Given the description of an element on the screen output the (x, y) to click on. 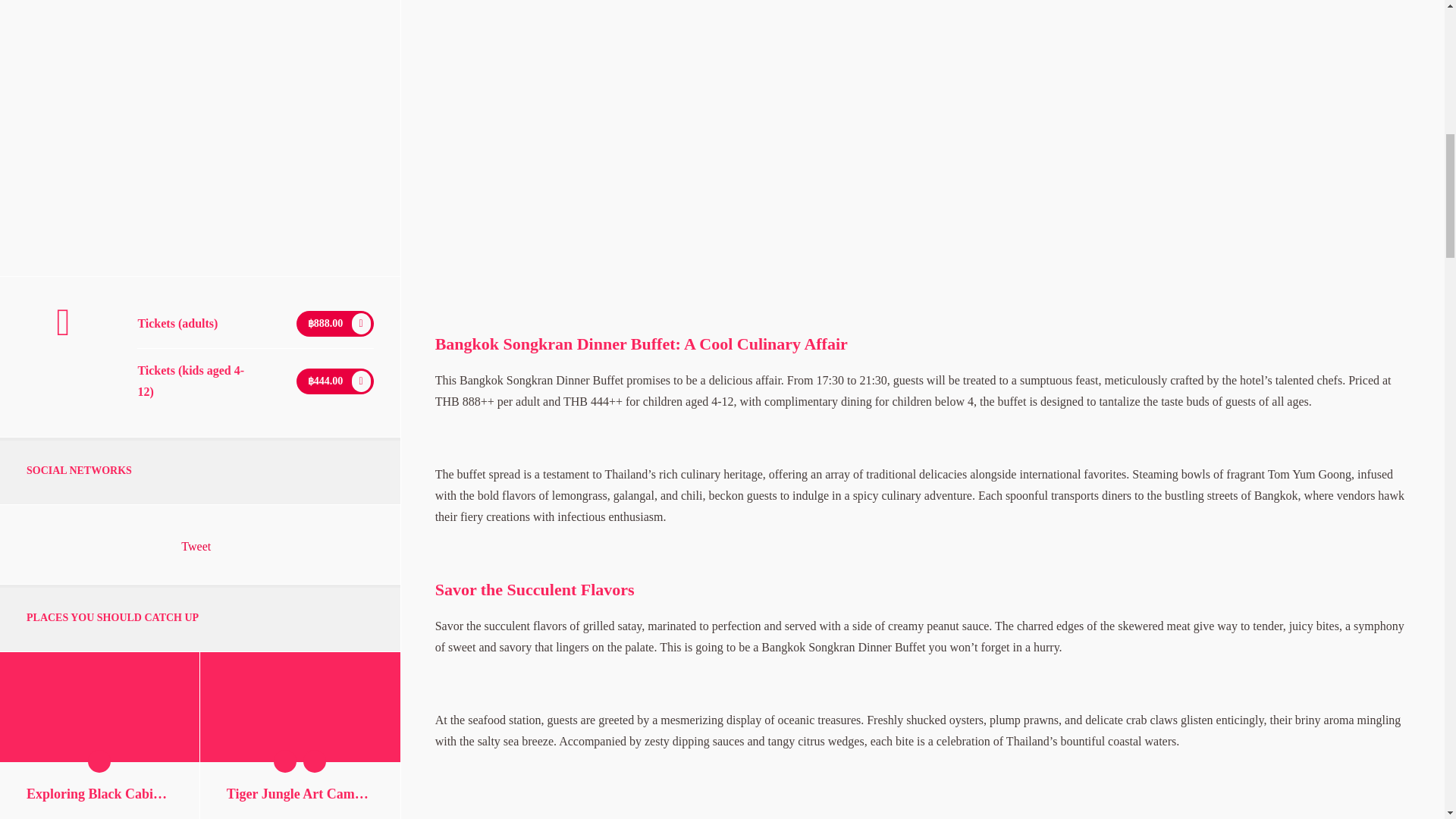
Exploring Black Cabin BarBangkok: Cozy Live Music Haven (99, 793)
Buy Ticket (335, 379)
Buy Ticket (335, 322)
Tweet (195, 545)
